Given the description of an element on the screen output the (x, y) to click on. 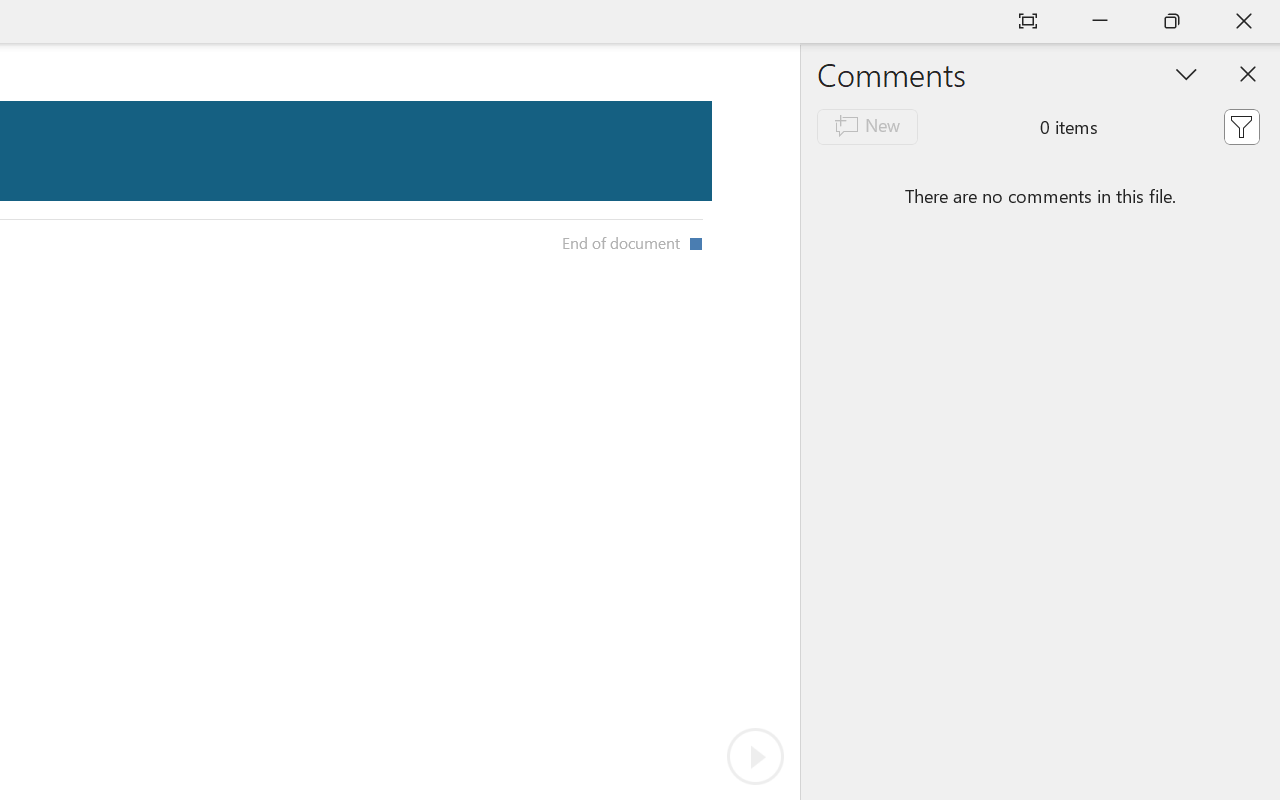
New comment (866, 126)
Auto-hide Reading Toolbar (1027, 21)
Filter (1241, 126)
